Given the description of an element on the screen output the (x, y) to click on. 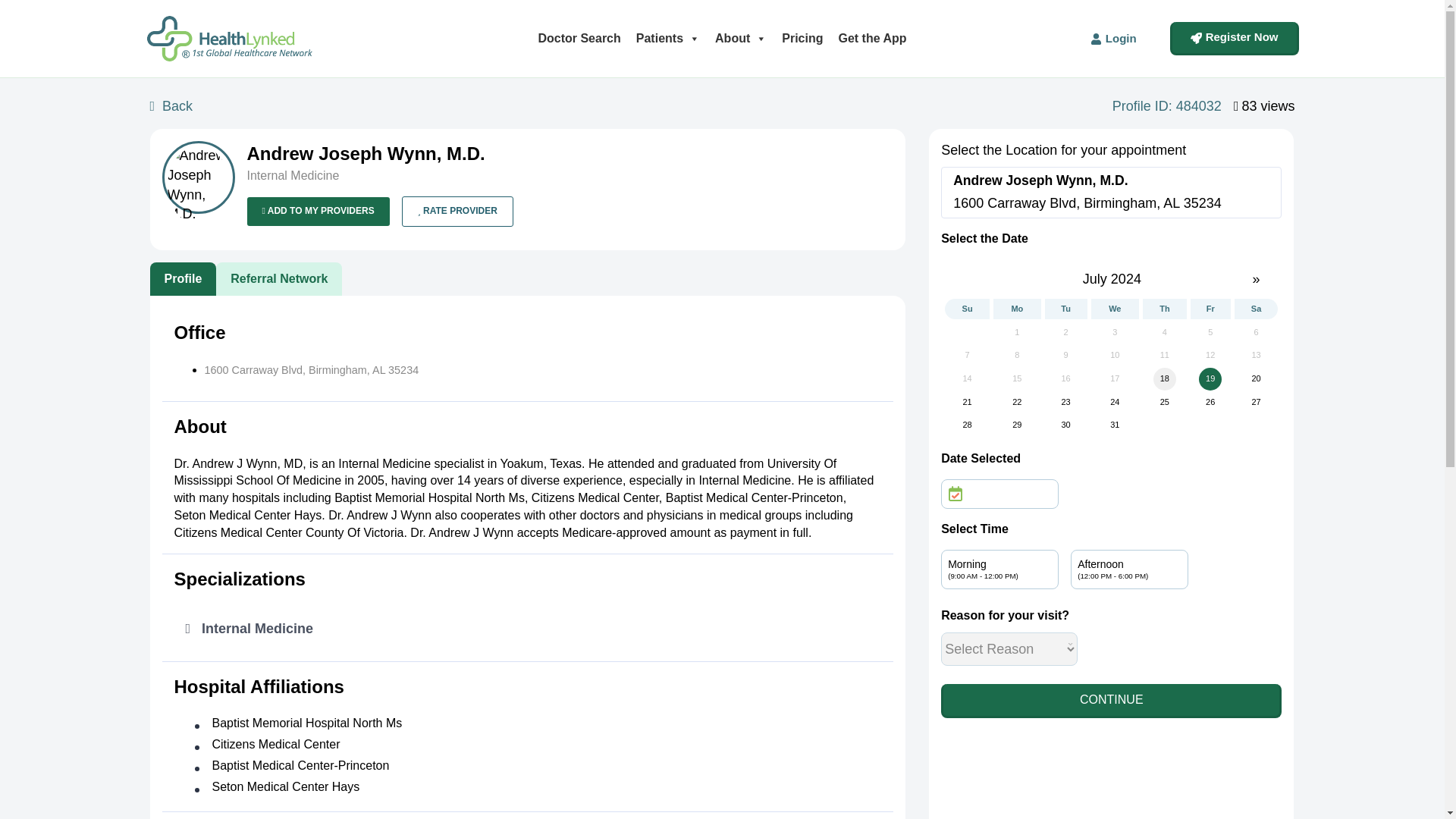
Back (173, 106)
Profile (182, 279)
Pricing (801, 38)
Register Now (1234, 38)
Doctor Search (578, 38)
ADD TO MY PROVIDERS (318, 211)
Get the App (871, 38)
Referral Network (278, 279)
Patients (667, 38)
Login (1112, 38)
About (740, 38)
CONTINUE (1110, 700)
RATE PROVIDER (457, 211)
